Given the description of an element on the screen output the (x, y) to click on. 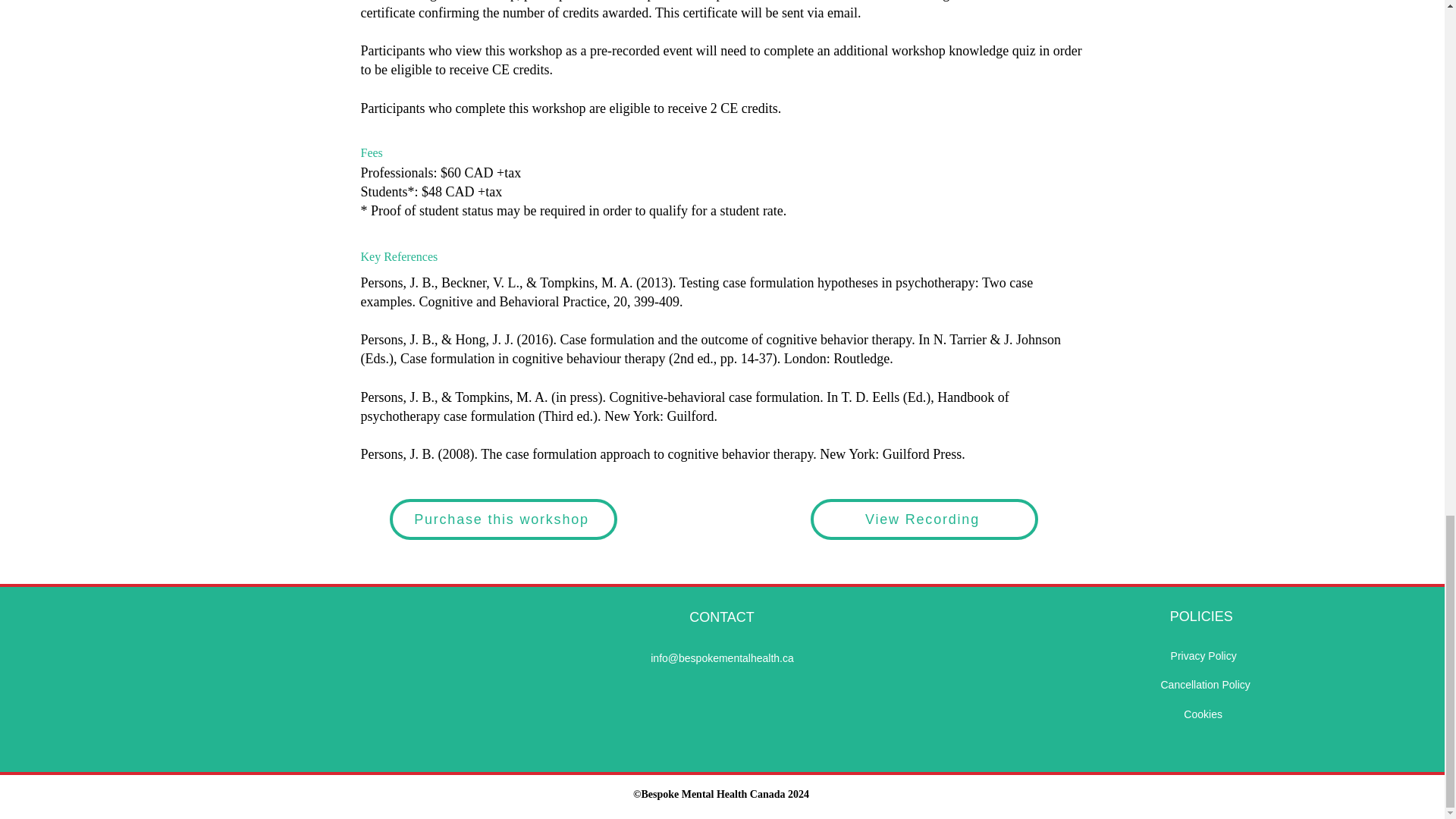
Privacy Policy (1203, 655)
Purchase this workshop (503, 518)
View Recording (922, 518)
Cancellation Policy (1204, 684)
Cookies (1203, 714)
